Given the description of an element on the screen output the (x, y) to click on. 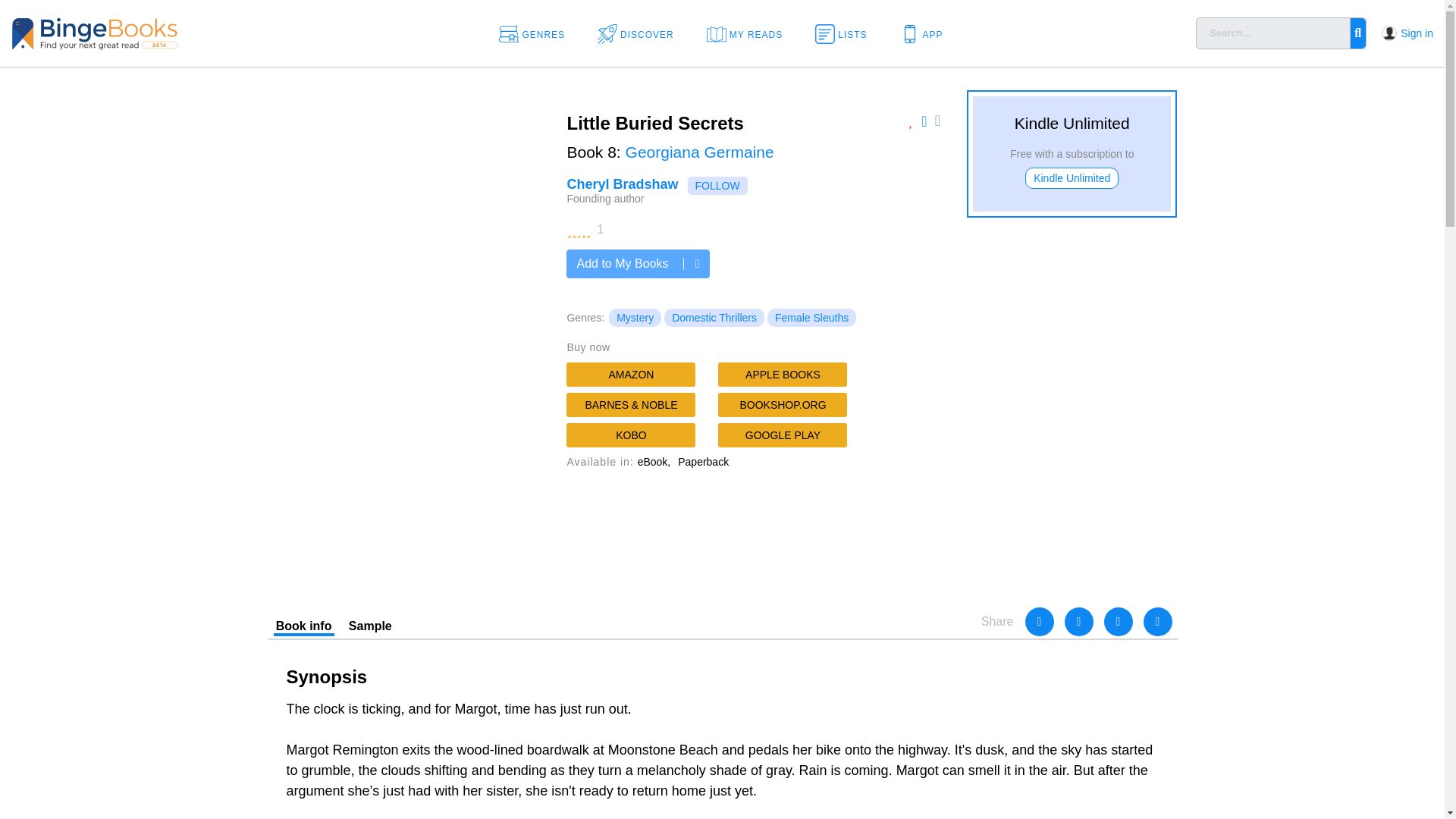
Discover (640, 33)
FOLLOW (717, 185)
Sign in (1416, 33)
Mystery (634, 317)
LISTS (845, 33)
AMAZON (630, 374)
My reads (749, 33)
Domestic Thrillers (713, 317)
DISCOVER (640, 33)
Add to My Books (637, 263)
GENRES (537, 33)
Find your next great read (144, 32)
APPLE BOOKS (782, 374)
Genres (537, 33)
Female Sleuths (811, 317)
